Given the description of an element on the screen output the (x, y) to click on. 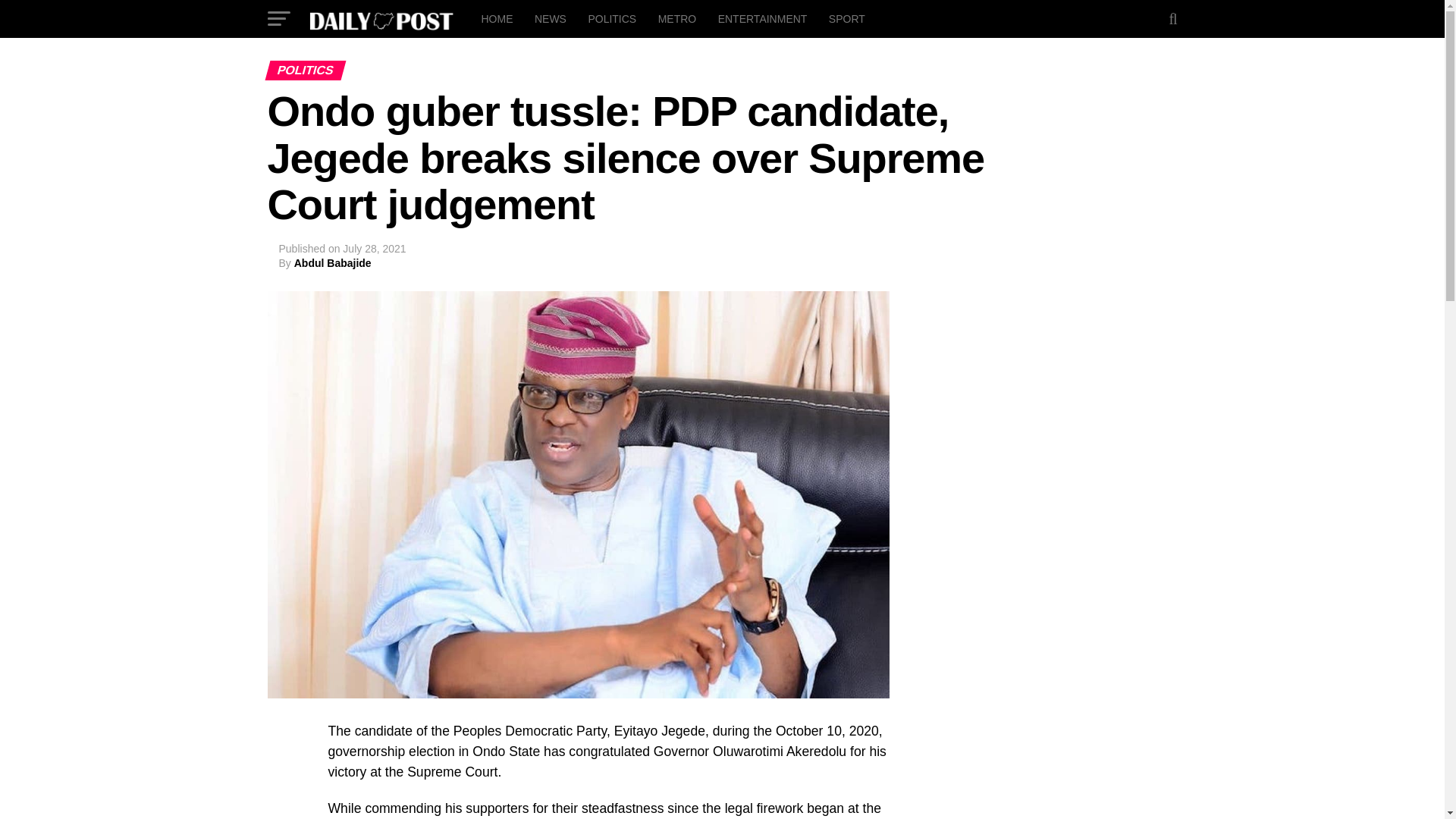
SPORT (847, 18)
Abdul Babajide (332, 263)
ENTERTAINMENT (762, 18)
POLITICS (611, 18)
Posts by Abdul Babajide (332, 263)
NEWS (550, 18)
METRO (677, 18)
HOME (496, 18)
